Given the description of an element on the screen output the (x, y) to click on. 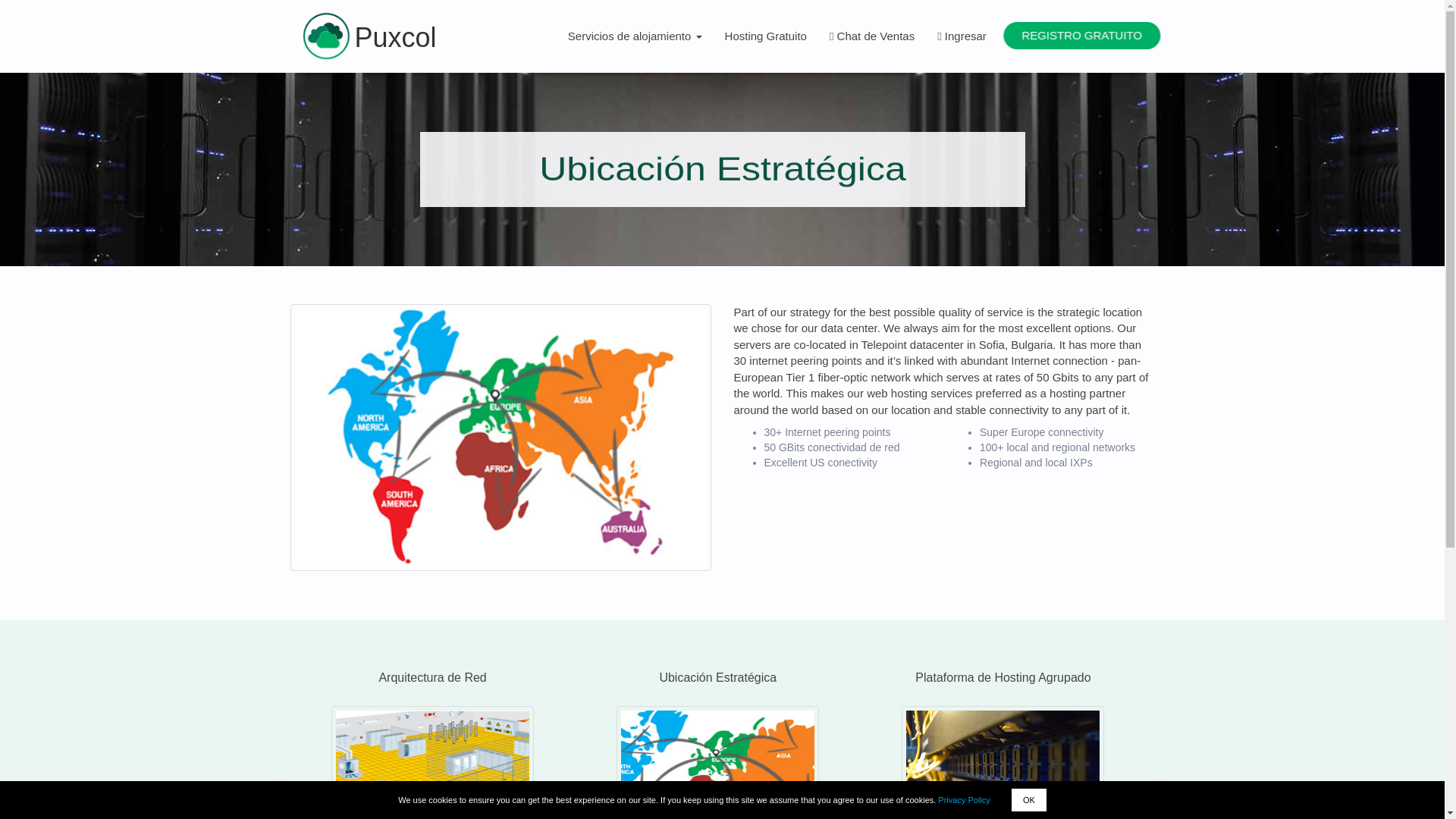
Chat de Ventas (872, 36)
Ingresar (961, 36)
Servicios de alojamiento (634, 36)
REGISTRO GRATUITO (1075, 35)
Hosting Gratuito (765, 36)
